Given the description of an element on the screen output the (x, y) to click on. 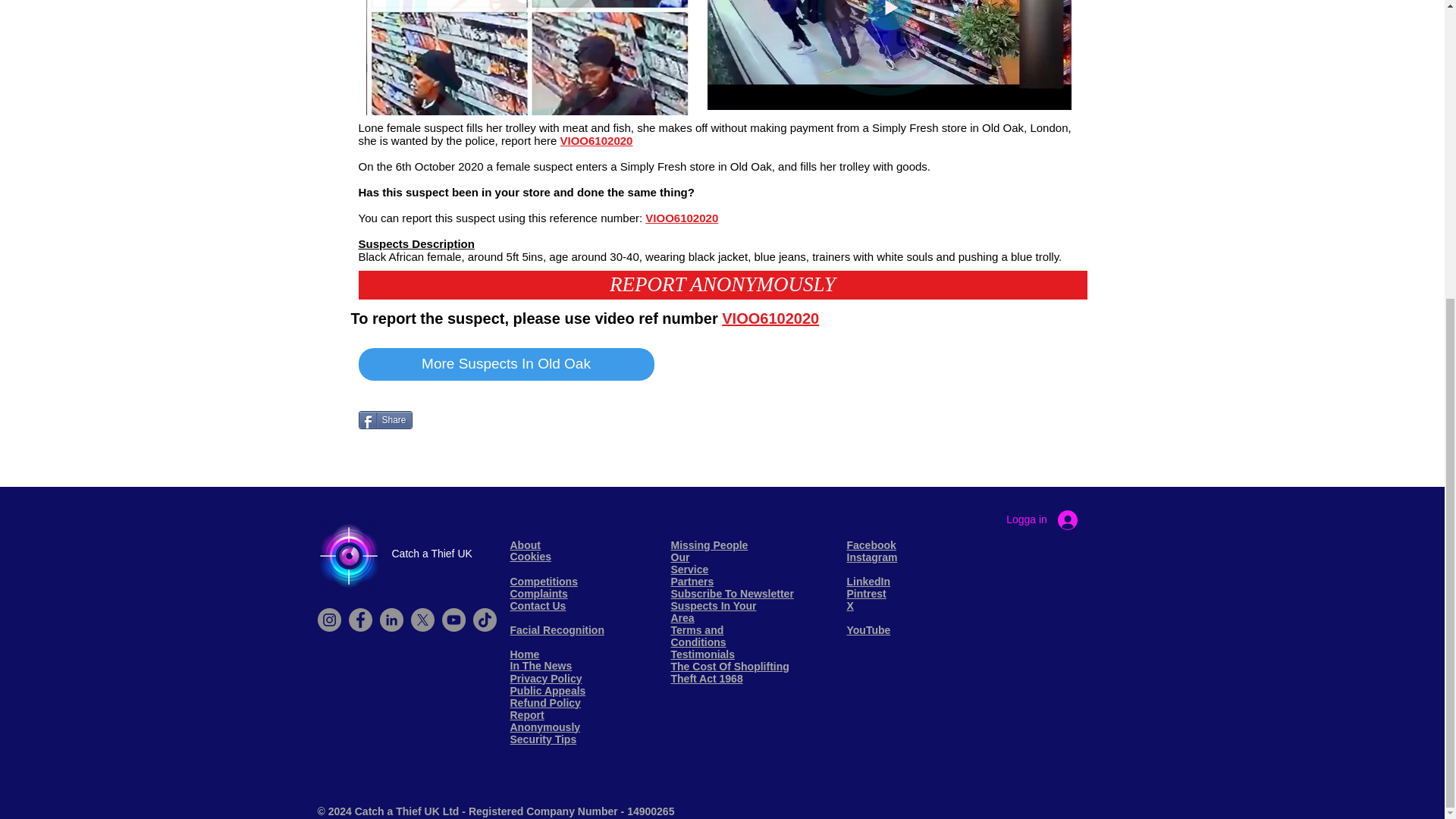
Twitter Tweet (385, 446)
Share (385, 420)
Lone Female Suspect Simply Fresh Old Oak (526, 57)
